Given the description of an element on the screen output the (x, y) to click on. 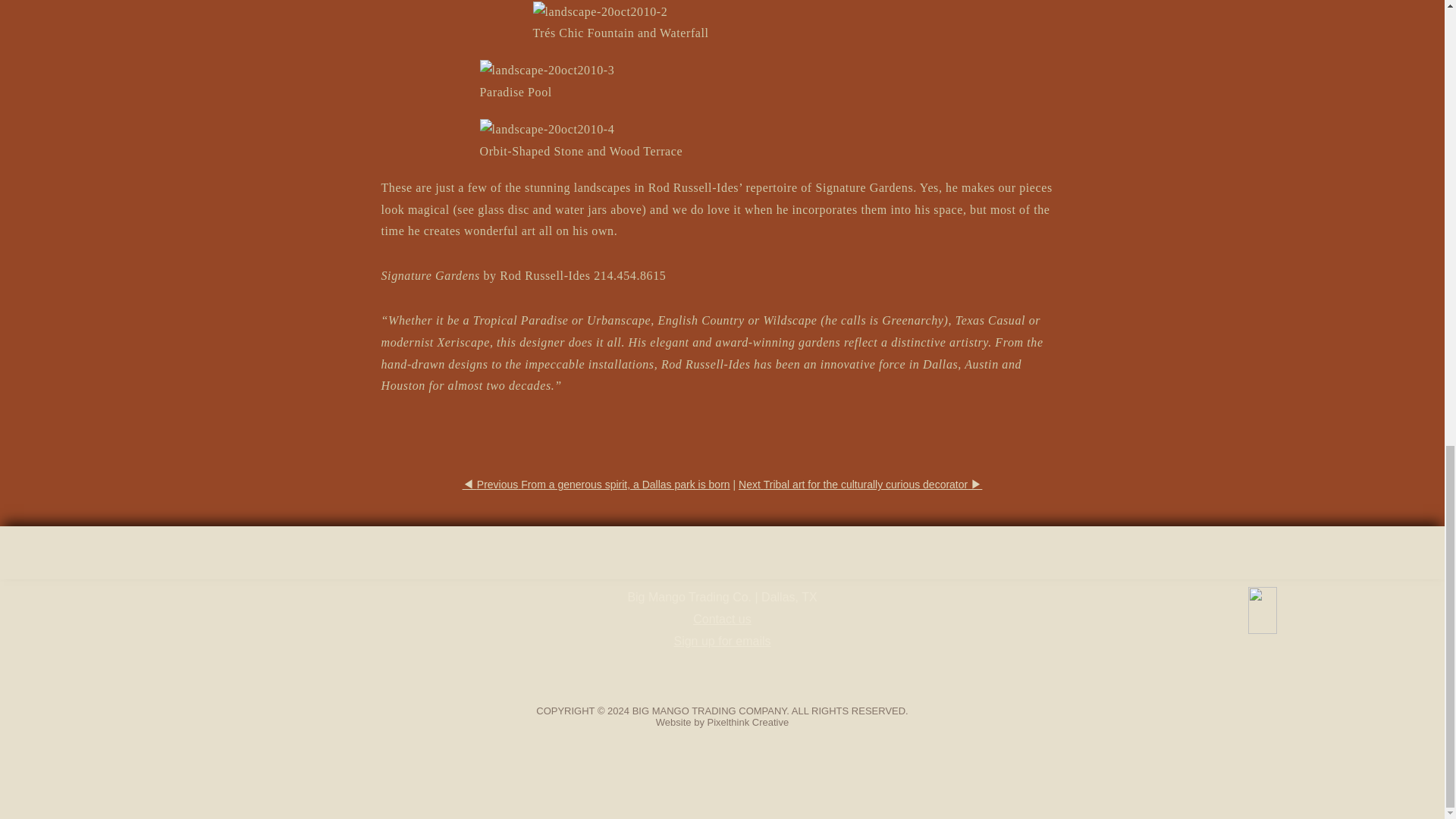
Website by Pixelthink Creative (722, 722)
Sign up for emails (721, 640)
Contact us (722, 618)
